Given the description of an element on the screen output the (x, y) to click on. 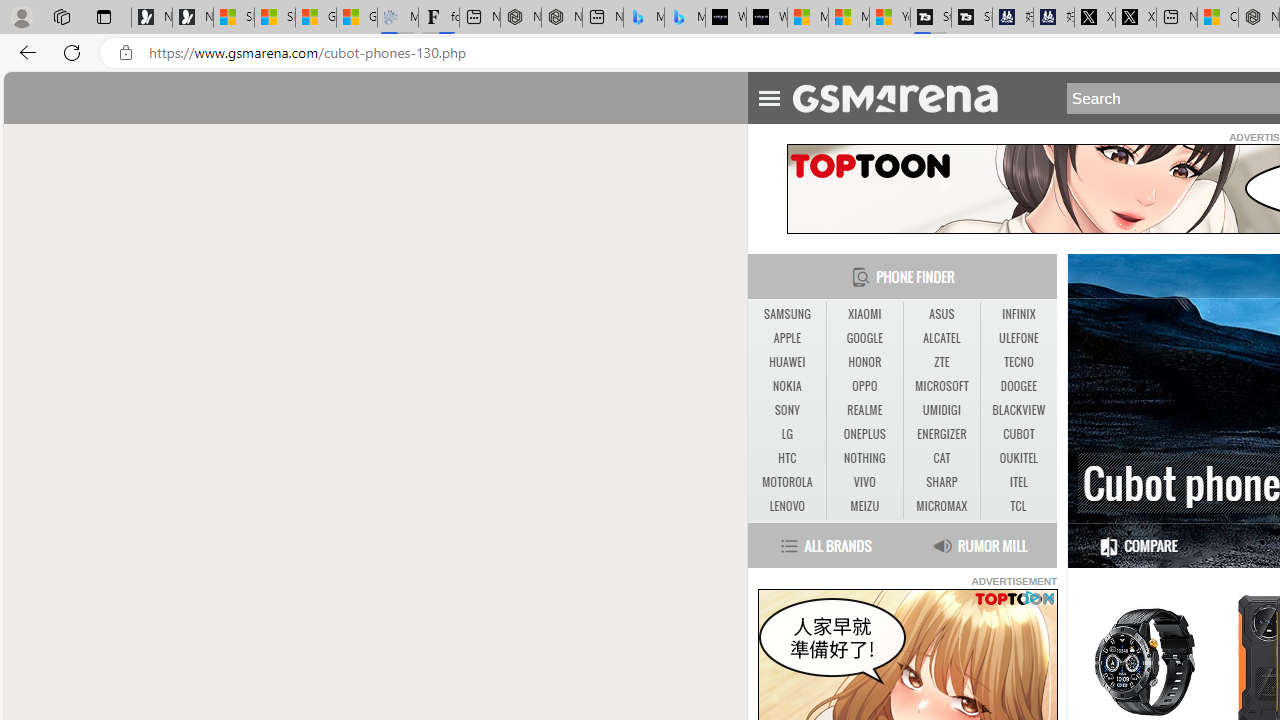
REALME (864, 411)
Class: privacy_out (1030, 596)
ONEPLUS (864, 434)
MOTOROLA (786, 483)
VIVO (863, 482)
SONY (786, 411)
AutomationID: close_button_svg (1048, 596)
ASUS (941, 314)
Newsletter Sign Up (192, 17)
